Given the description of an element on the screen output the (x, y) to click on. 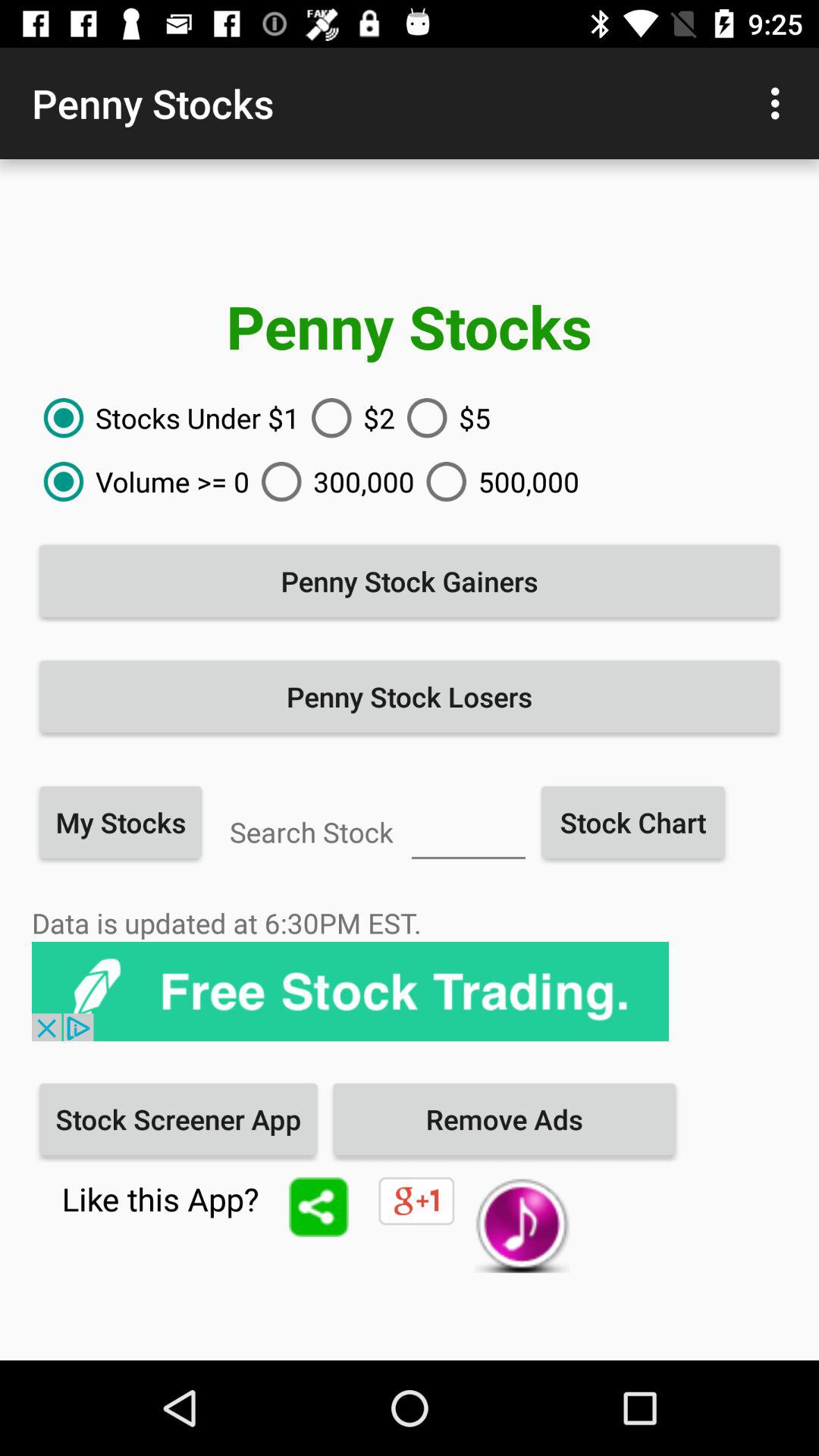
it is an advertisement for stock trading (349, 991)
